Given the description of an element on the screen output the (x, y) to click on. 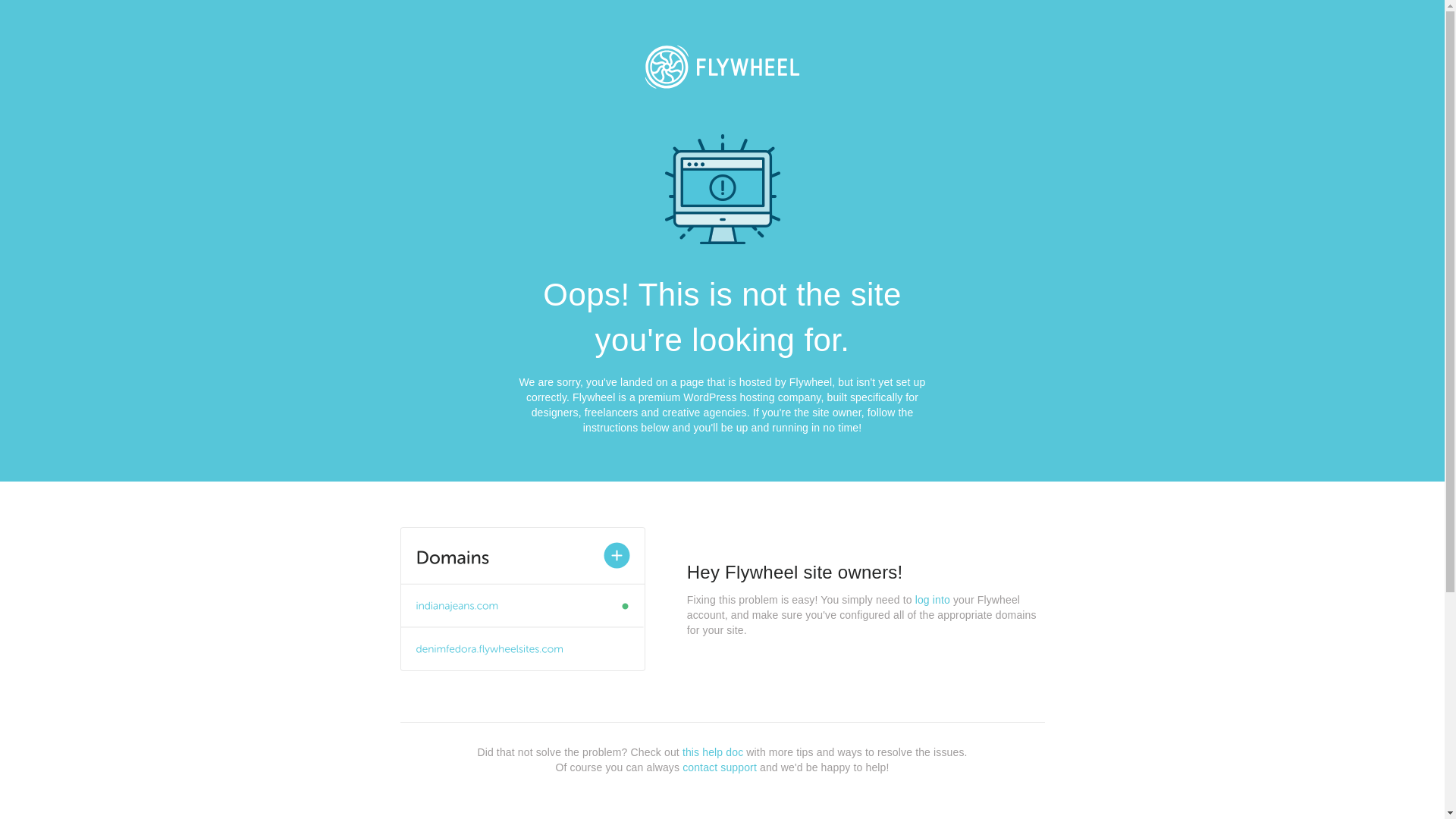
log into (932, 599)
this help doc (712, 752)
contact support (719, 767)
